Given the description of an element on the screen output the (x, y) to click on. 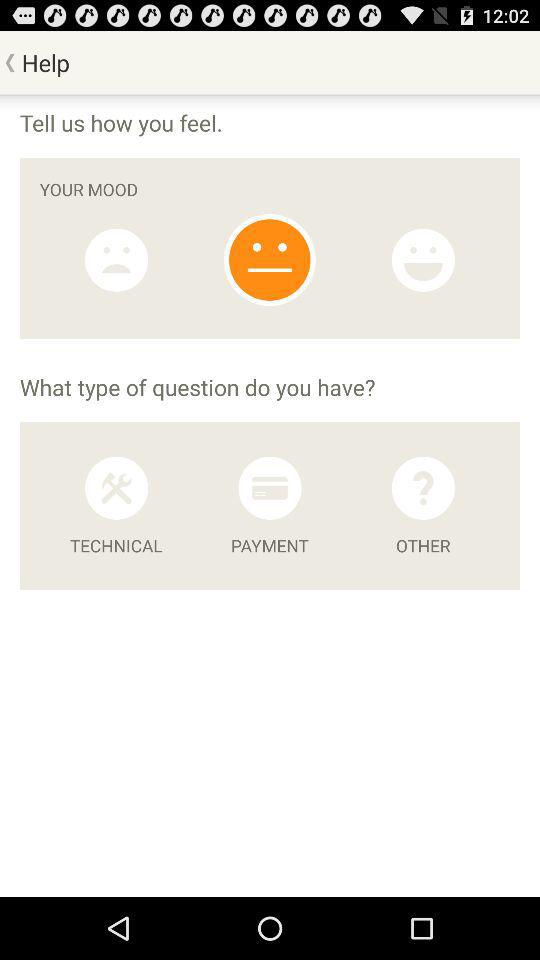
payment option (269, 488)
